Given the description of an element on the screen output the (x, y) to click on. 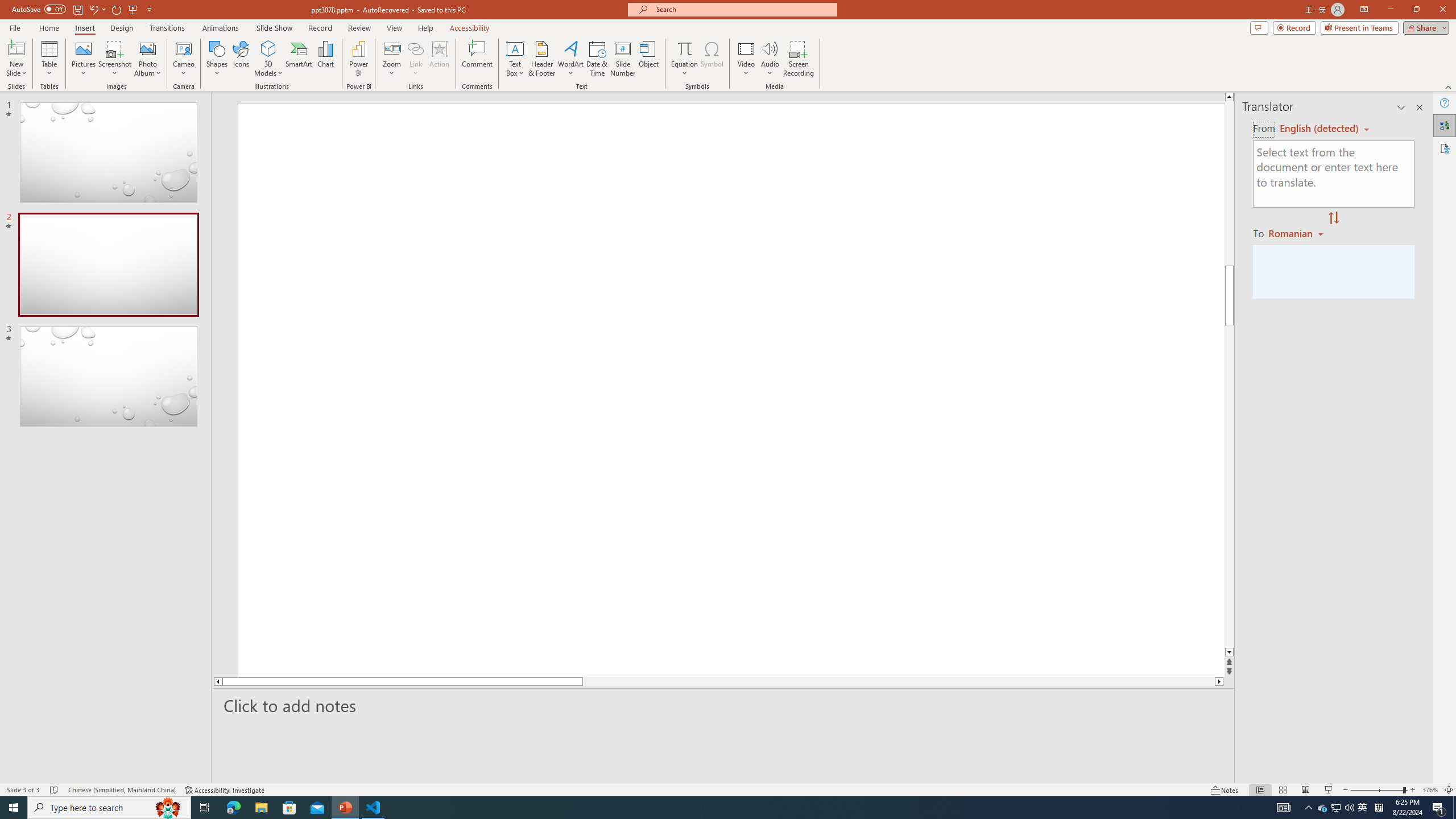
Slide Number (622, 58)
Symbol... (711, 58)
Table (49, 58)
Swap "from" and "to" languages. (1333, 218)
Photo Album... (147, 58)
Czech (detected) (1319, 128)
3D Models (268, 48)
